Given the description of an element on the screen output the (x, y) to click on. 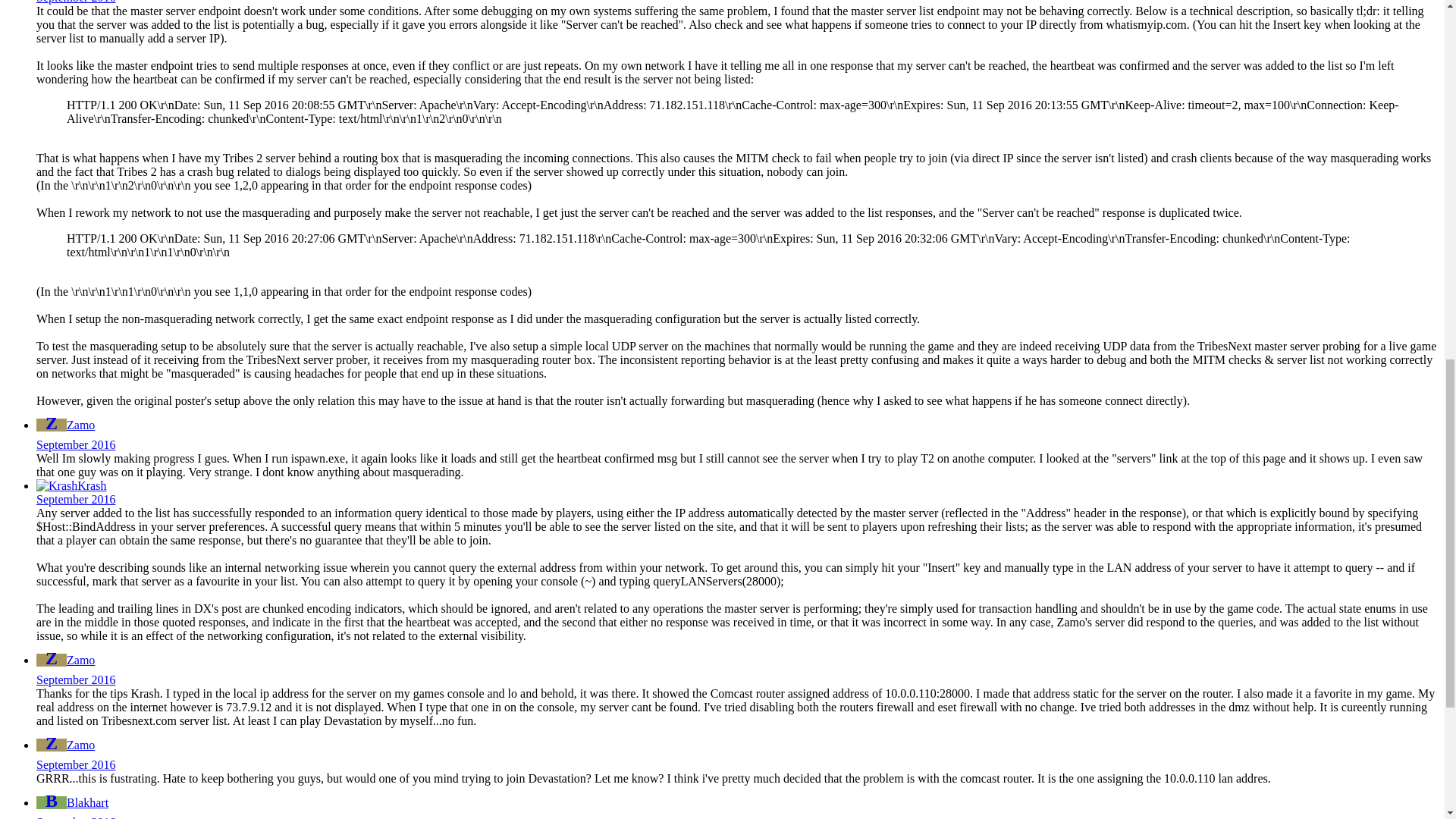
September 11, 2016 1:53PM (75, 2)
September 12, 2016 6:48AM (75, 444)
Zamo (51, 424)
Krash (56, 485)
September 14, 2016 9:27PM (75, 499)
